Given the description of an element on the screen output the (x, y) to click on. 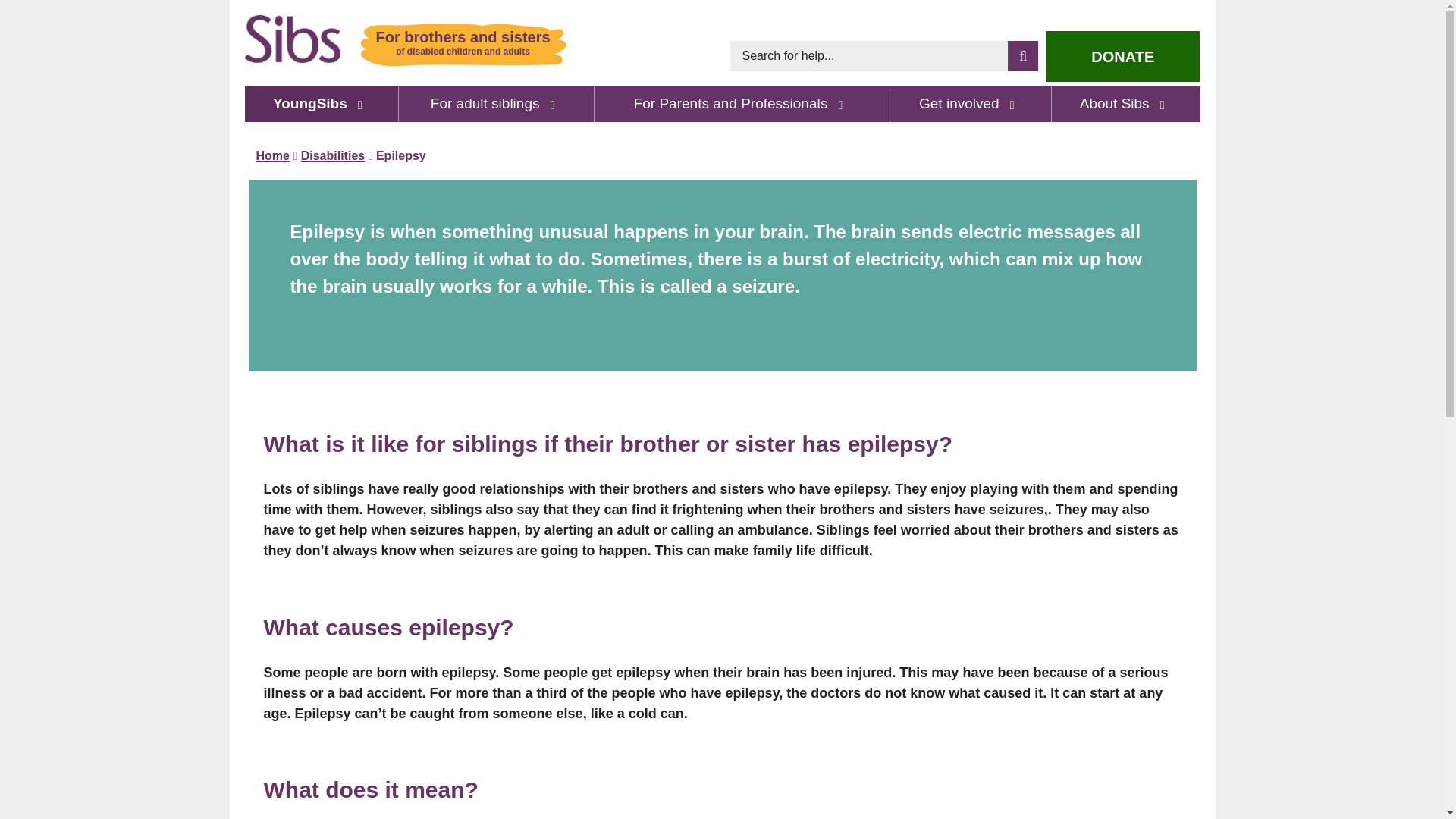
YoungSibs (320, 102)
For adult siblings (496, 102)
For Parents and Professionals (742, 102)
DONATE (1122, 56)
Sibs (292, 39)
